Given the description of an element on the screen output the (x, y) to click on. 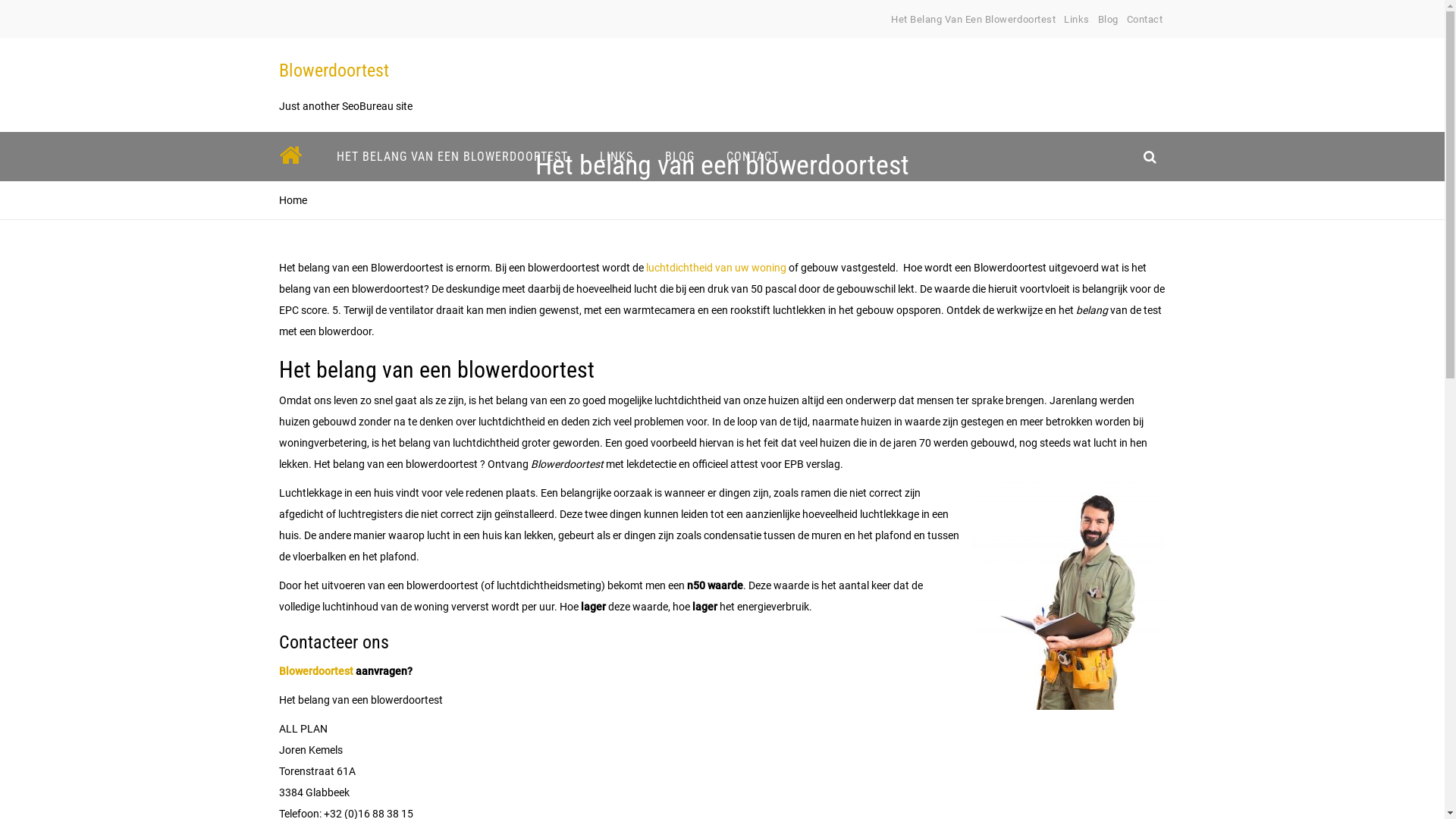
Blowerdoortest Element type: text (316, 671)
Blowerdoortest Element type: text (334, 70)
luchtdichtheid van uw woning Element type: text (716, 267)
CONTACT Element type: text (751, 156)
LINKS Element type: text (616, 156)
search_icon Element type: hover (1148, 156)
Links Element type: text (1076, 19)
Contact Element type: text (1144, 19)
Het Belang Van Een Blowerdoortest Element type: text (973, 19)
HET BELANG VAN EEN BLOWERDOORTEST Element type: text (451, 156)
BLOG Element type: text (679, 156)
Blog Element type: text (1108, 19)
